Given the description of an element on the screen output the (x, y) to click on. 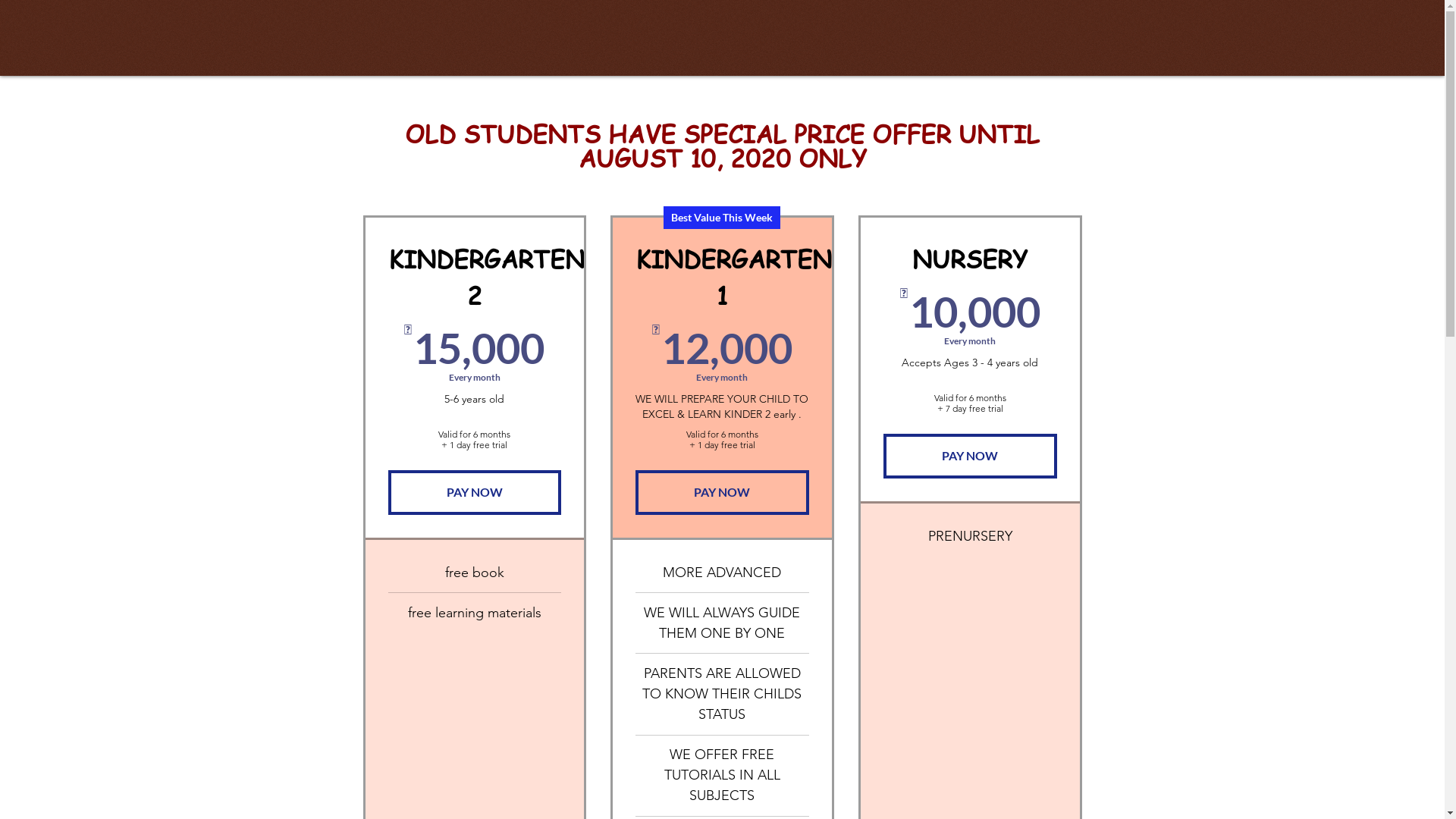
PAY NOW Element type: text (970, 455)
PAY NOW Element type: text (722, 492)
PAY NOW Element type: text (474, 492)
